Given the description of an element on the screen output the (x, y) to click on. 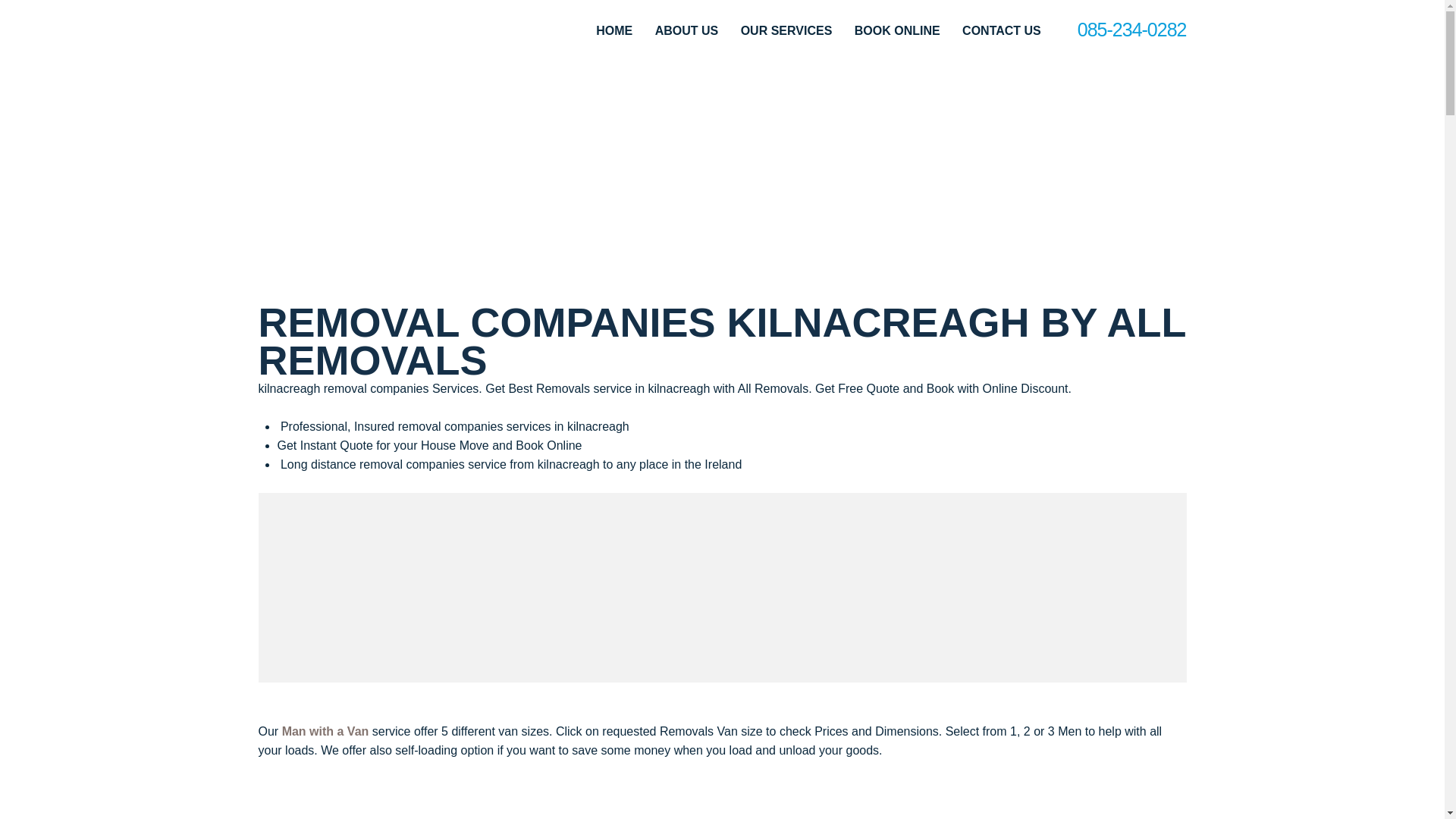
HOME (613, 30)
CONTACT US (1001, 30)
ABOUT US (687, 30)
Man with a Van (325, 730)
085-234-0282 (1131, 30)
BOOK ONLINE (897, 30)
OUR SERVICES (786, 30)
